Given the description of an element on the screen output the (x, y) to click on. 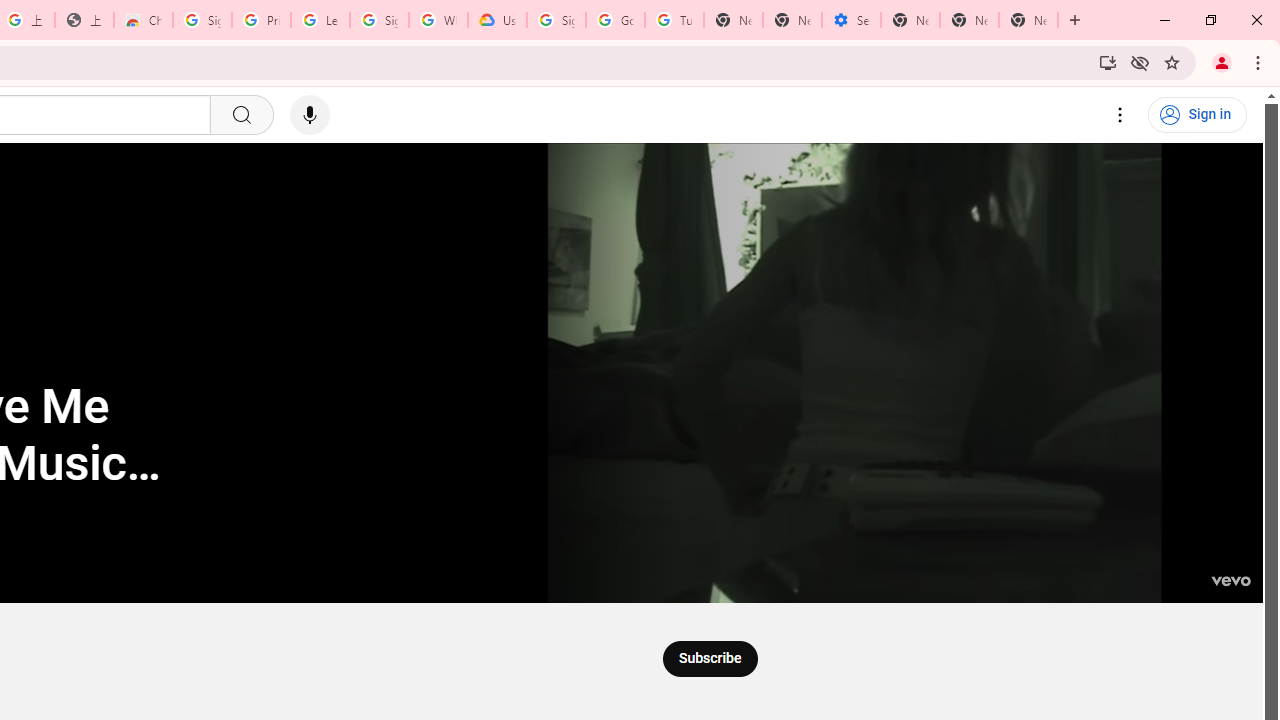
New Tab (909, 20)
